Given the description of an element on the screen output the (x, y) to click on. 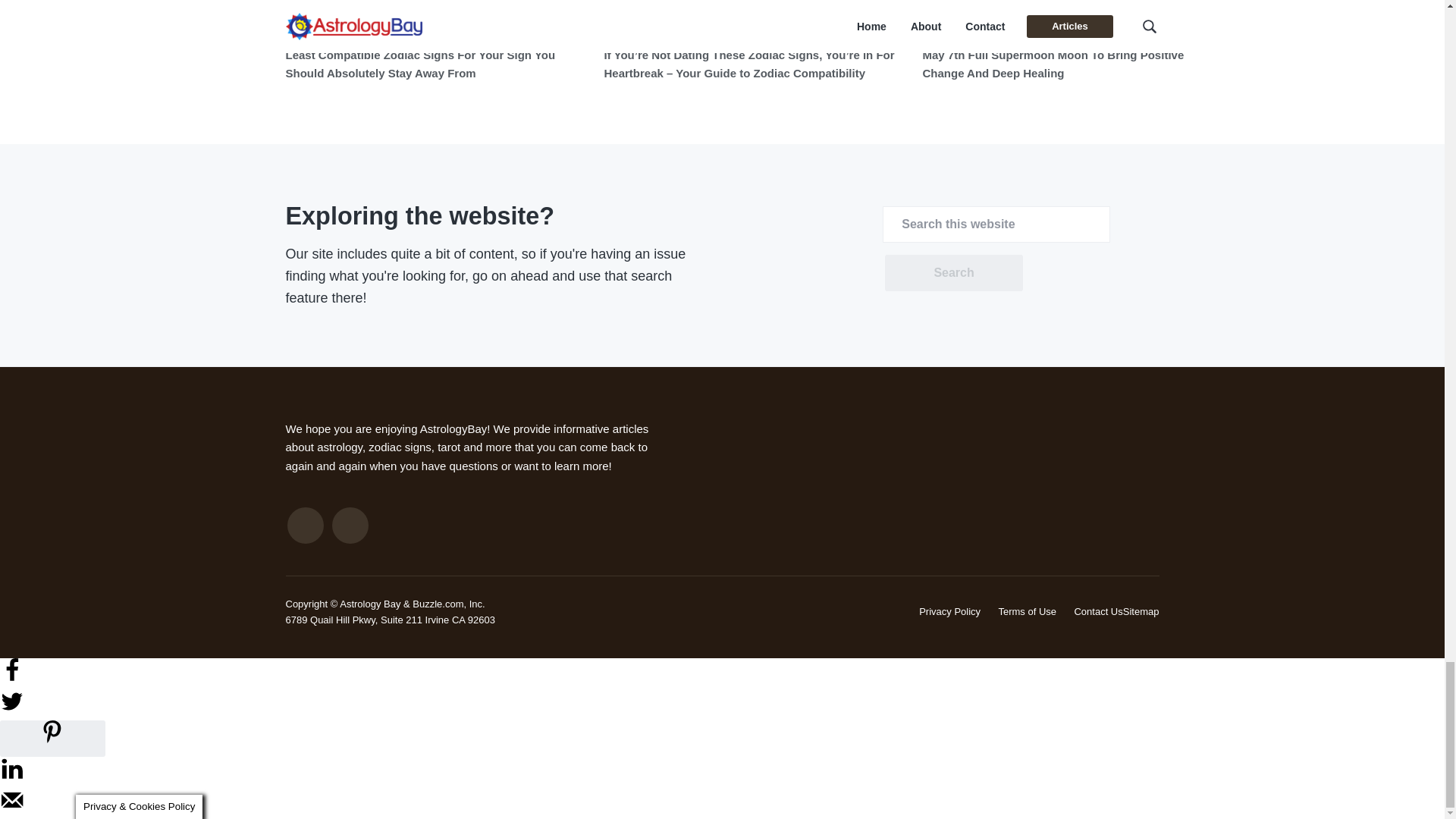
Search (953, 272)
Search (953, 272)
